Given the description of an element on the screen output the (x, y) to click on. 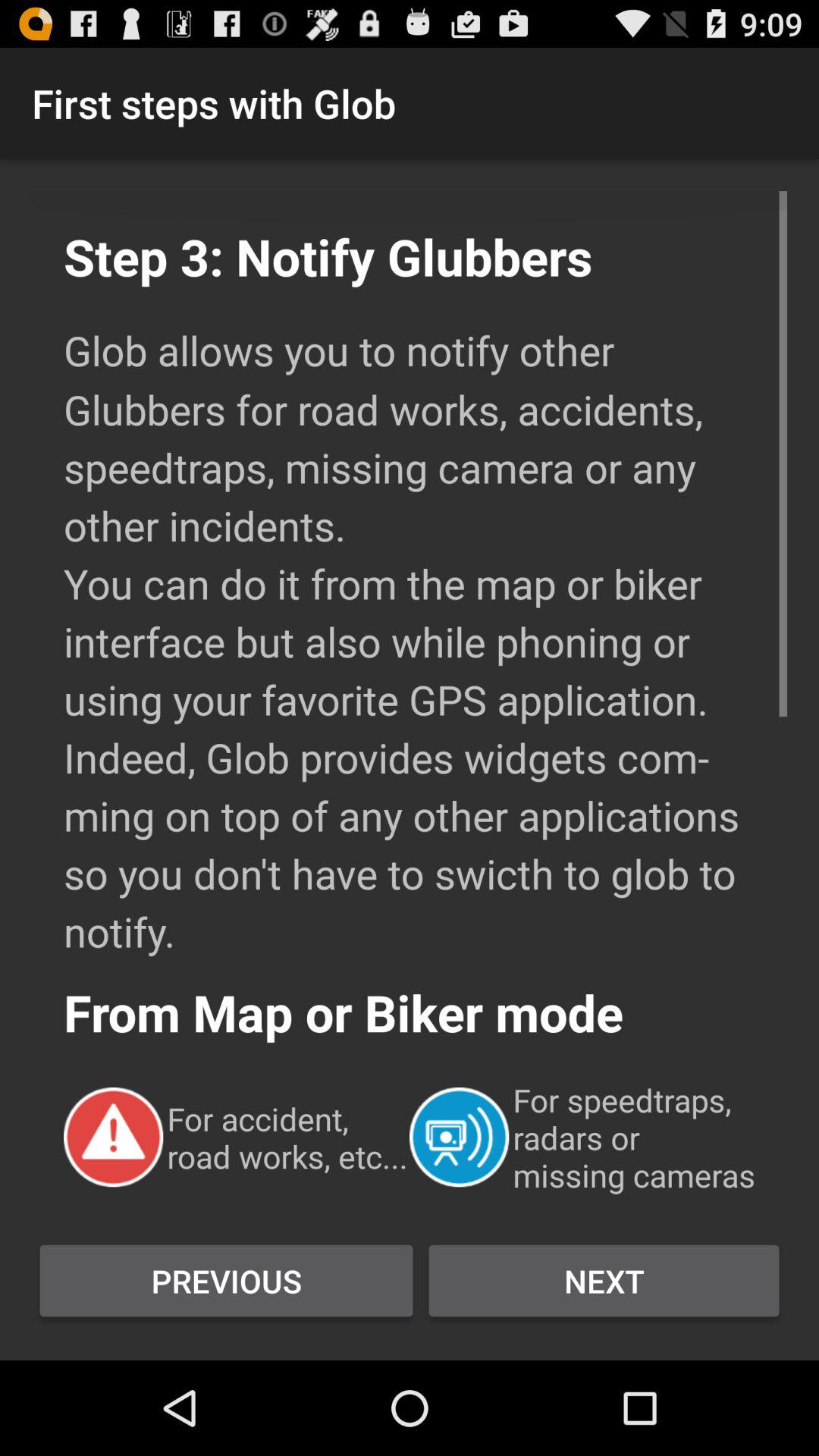
flip until next item (603, 1280)
